Given the description of an element on the screen output the (x, y) to click on. 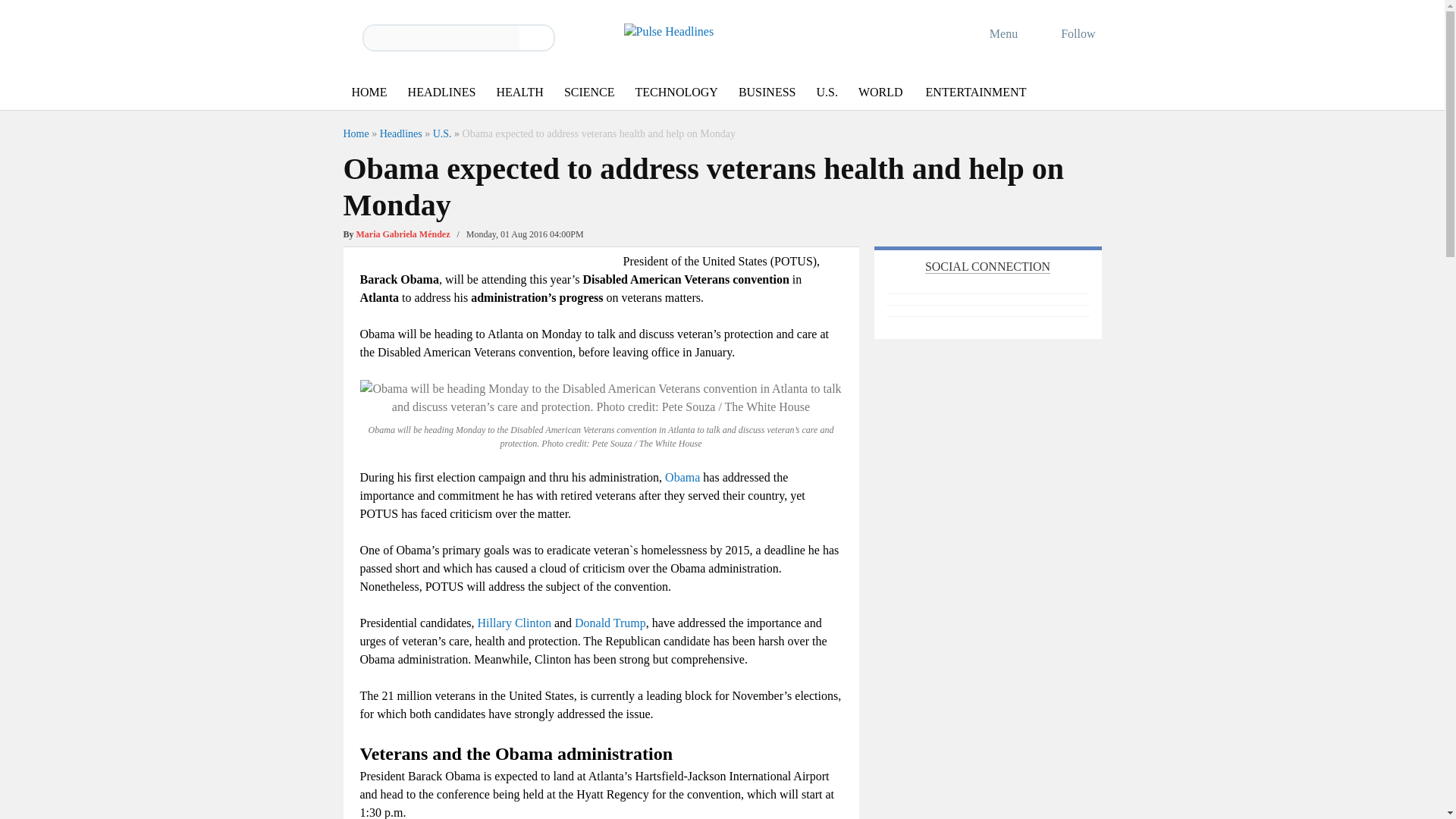
Hillary Clinton (514, 622)
ENTERTAINMENT (975, 91)
Headlines (401, 133)
Menu (993, 33)
BUSINESS (767, 91)
SCIENCE (589, 91)
U.S. (826, 91)
HEALTH (519, 91)
Follow (1068, 33)
TECHNOLOGY (676, 91)
Obama (682, 477)
U.S. (441, 133)
WORLD (880, 91)
HEADLINES (441, 91)
HOME (368, 91)
